Given the description of an element on the screen output the (x, y) to click on. 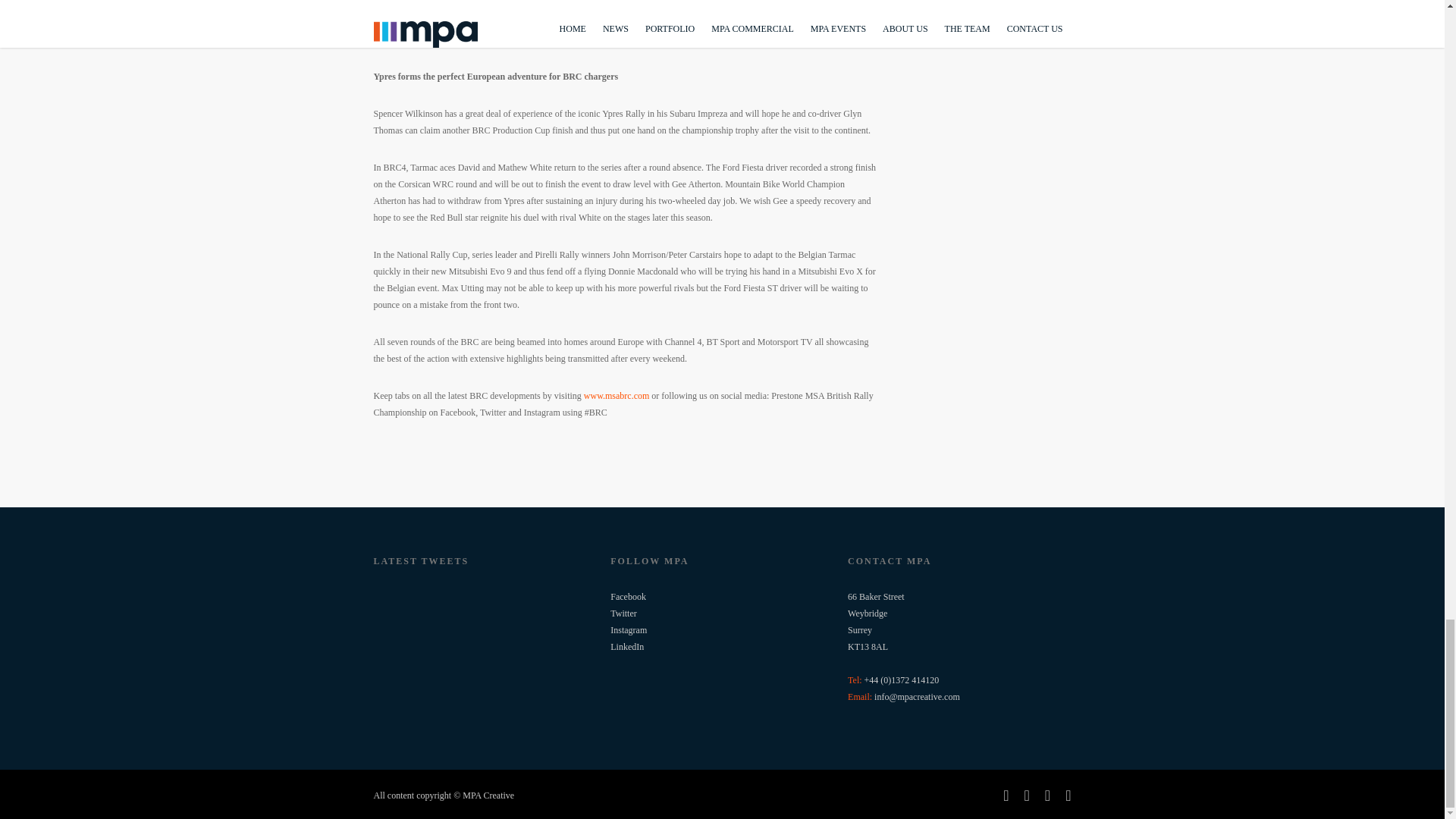
Instagram (628, 629)
www.msabrc.com (616, 395)
Facebook (628, 596)
LinkedIn (626, 646)
Twitter (623, 613)
